Given the description of an element on the screen output the (x, y) to click on. 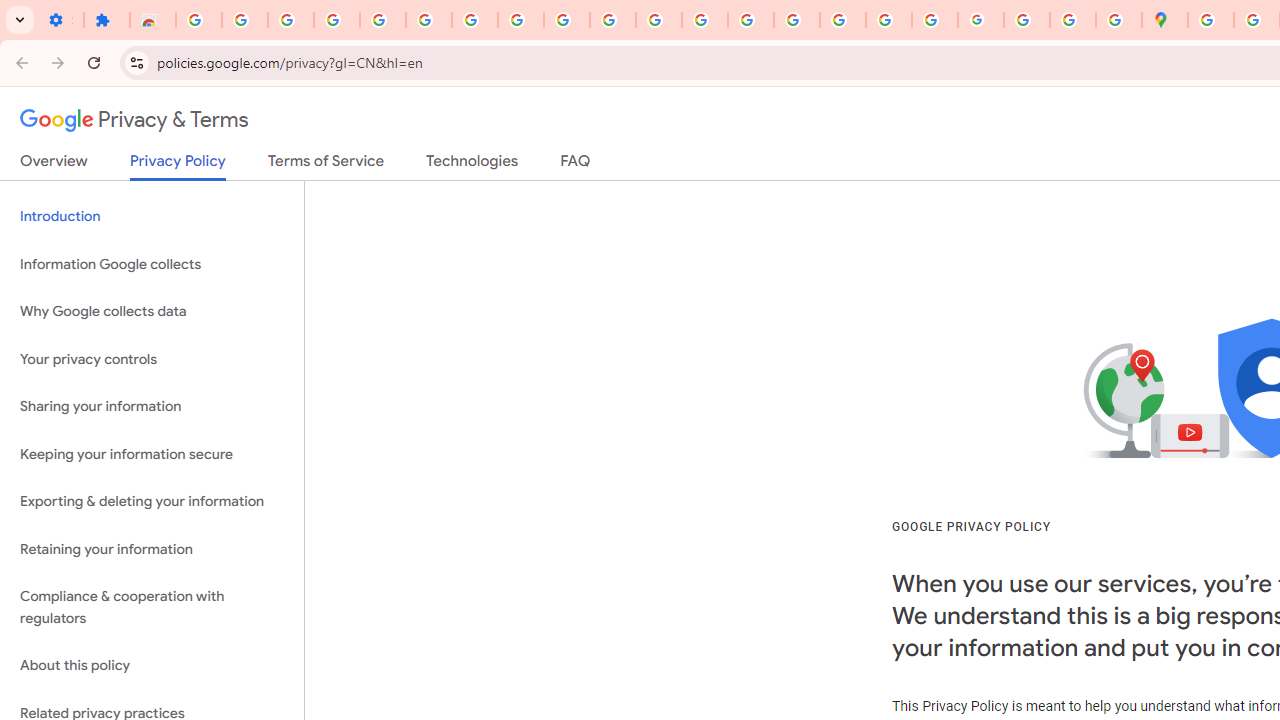
https://scholar.google.com/ (705, 20)
Google Account Help (428, 20)
Privacy Help Center - Policies Help (797, 20)
Google Account Help (474, 20)
